Given the description of an element on the screen output the (x, y) to click on. 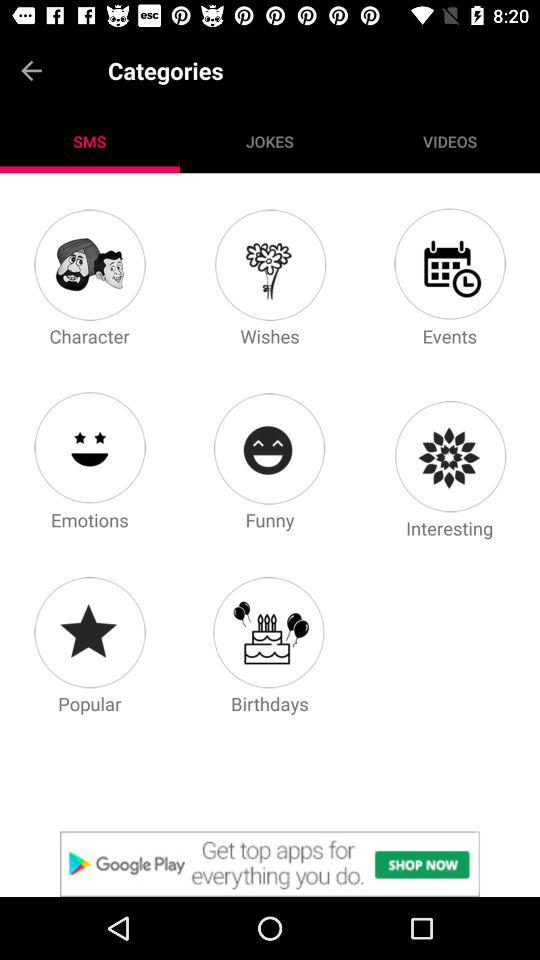
events schedule (449, 264)
